Given the description of an element on the screen output the (x, y) to click on. 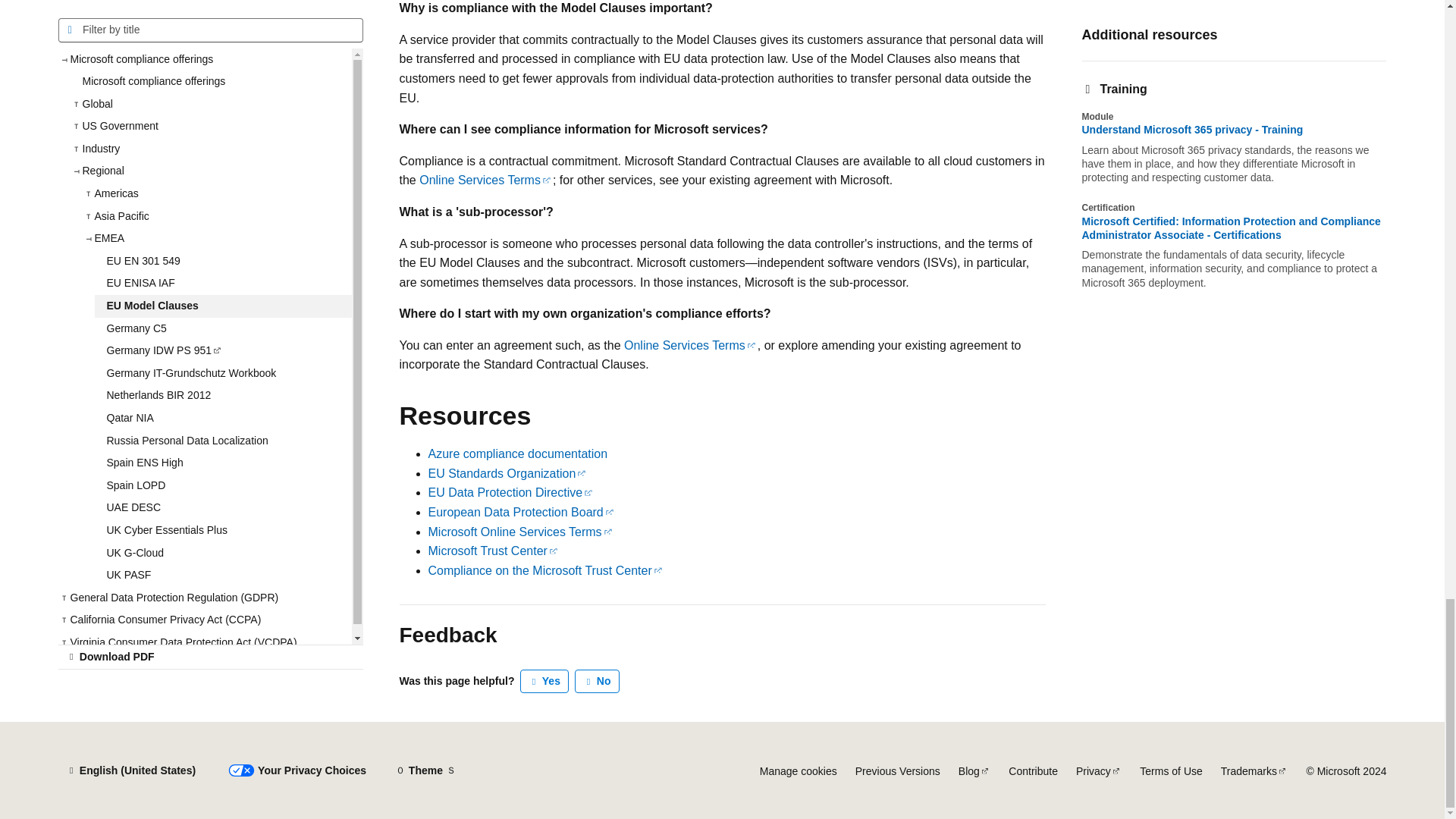
This article is not helpful (597, 681)
Theme (425, 770)
This article is helpful (544, 681)
